Given the description of an element on the screen output the (x, y) to click on. 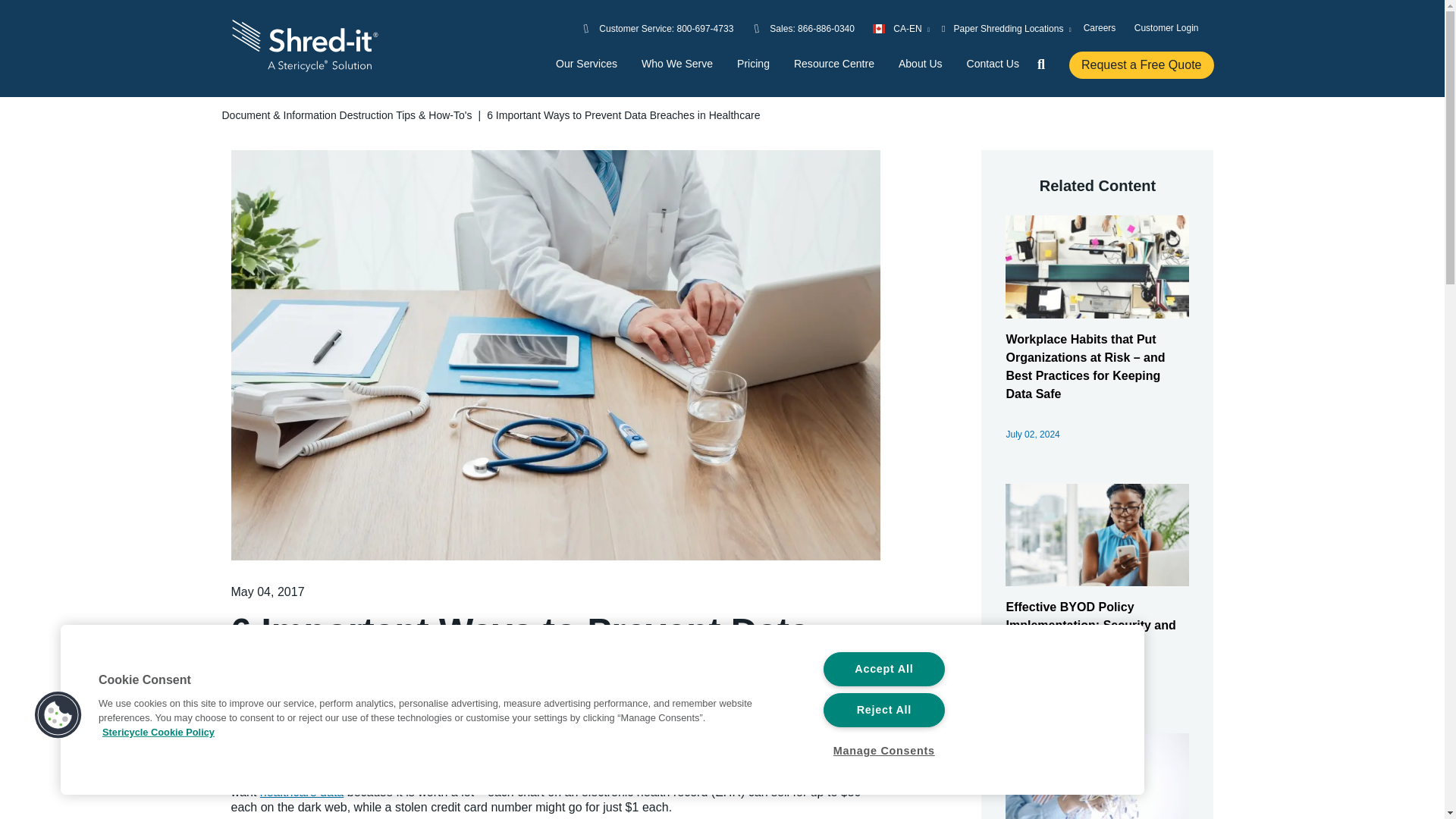
Cookies Button (57, 715)
Paper Shredding Locations (1006, 28)
Our Services (586, 63)
Who We Serve (677, 63)
Careers (1099, 27)
Sales: 866-886-0340 (812, 28)
CA-EN (901, 28)
Customer Login (1166, 27)
Customer Service: 800-697-4733 (665, 28)
